Given the description of an element on the screen output the (x, y) to click on. 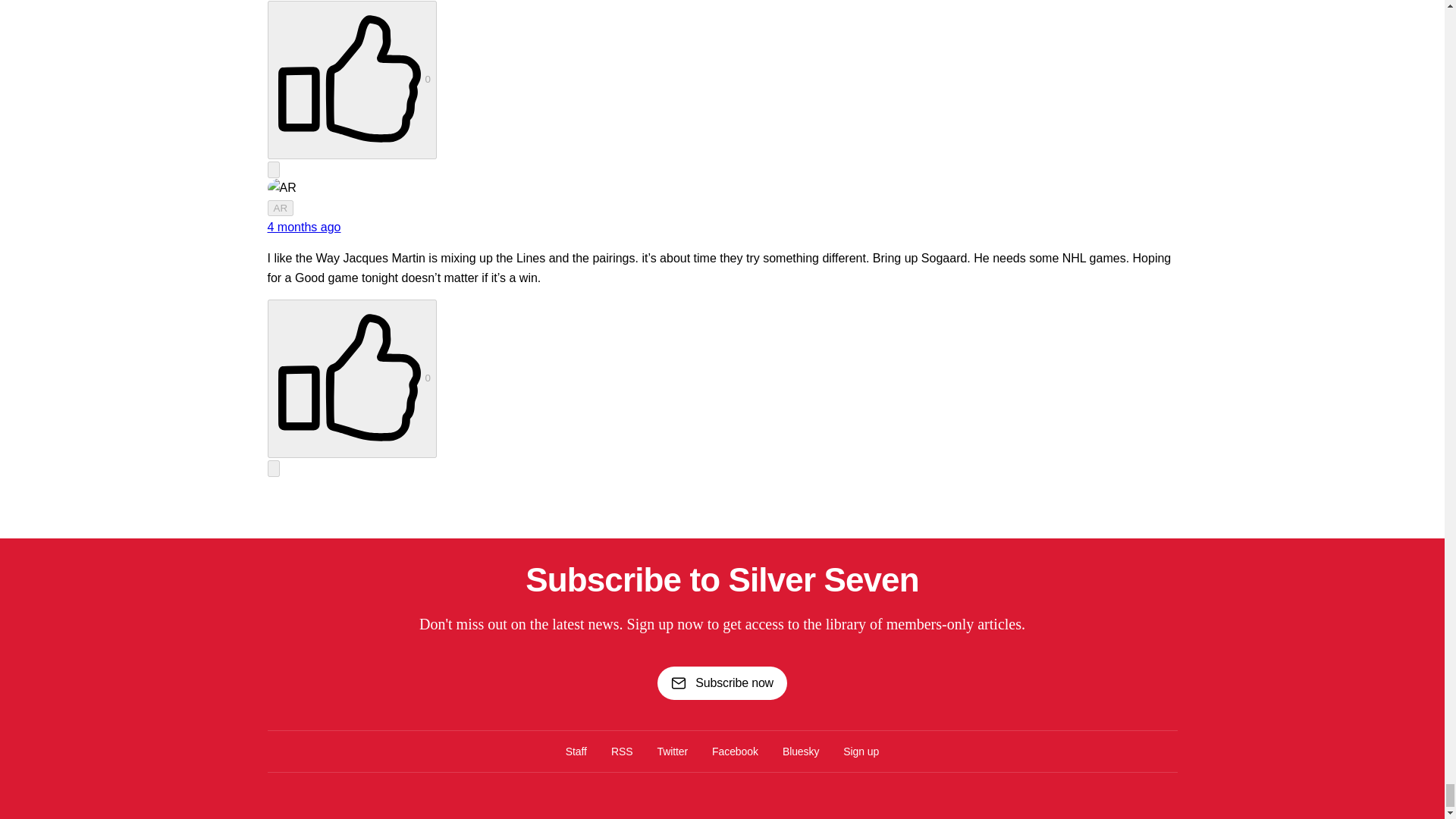
RSS (622, 751)
Subscribe now (722, 682)
Twitter (671, 751)
Staff (576, 751)
